Given the description of an element on the screen output the (x, y) to click on. 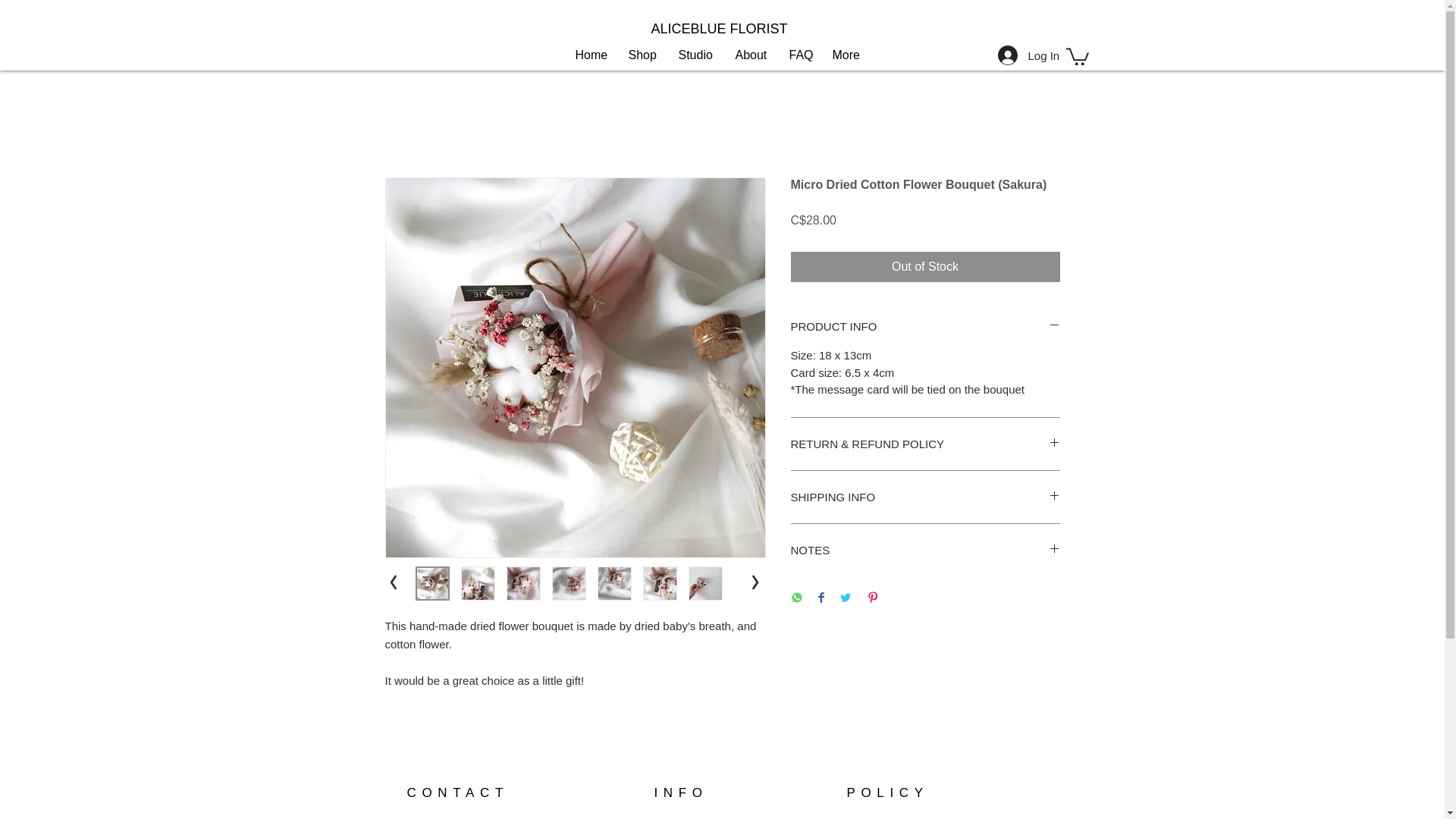
FAQ (799, 55)
About (750, 55)
PRODUCT INFO (924, 326)
Studio (694, 55)
SHIPPING INFO (924, 496)
Log In (1023, 54)
ALICEBLUE FLORIST (721, 29)
Shop (641, 55)
Out of Stock (924, 266)
Home (590, 55)
